Given the description of an element on the screen output the (x, y) to click on. 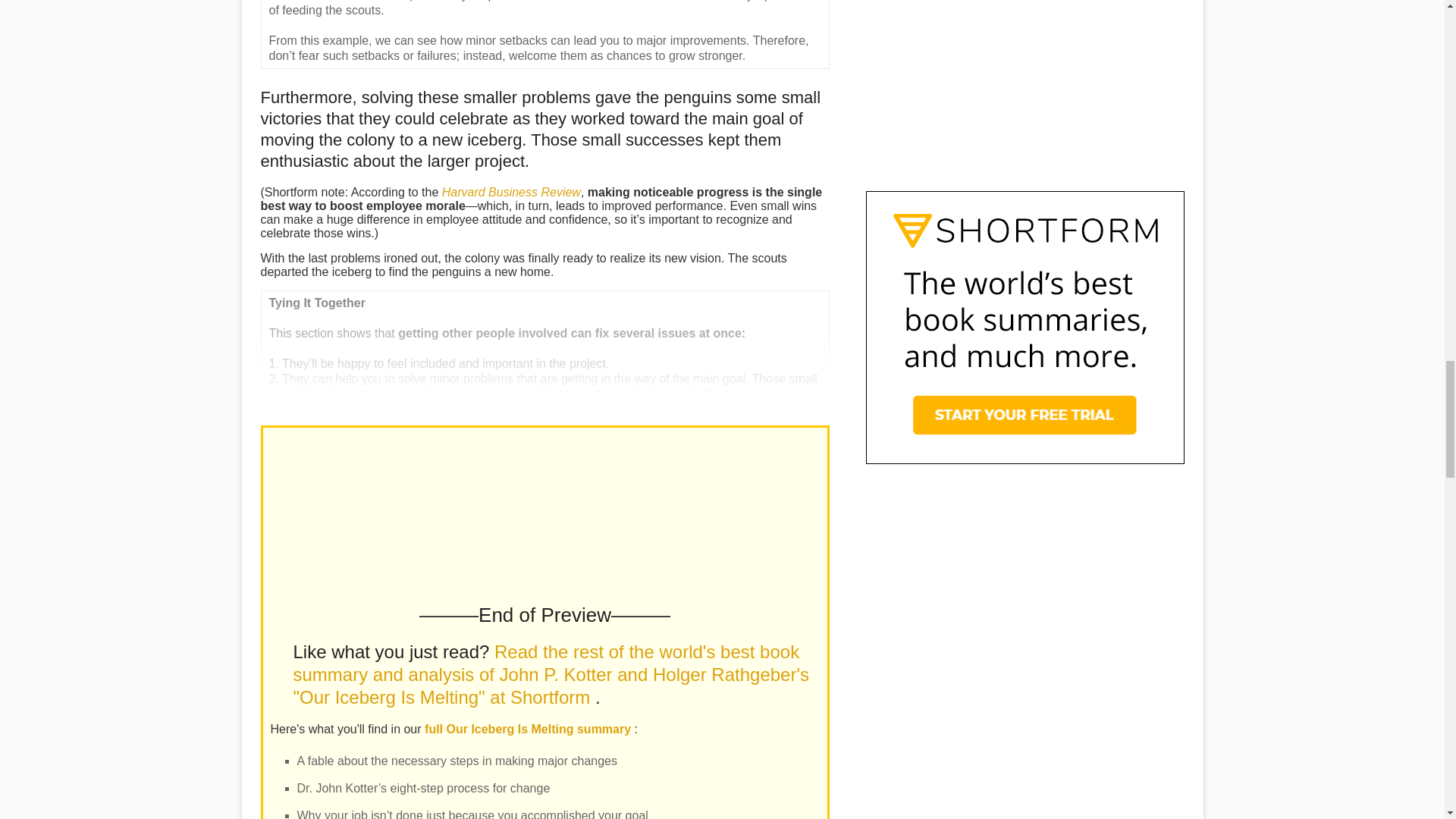
full Our Iceberg Is Melting summary (529, 728)
Harvard Business Review (511, 192)
